Given the description of an element on the screen output the (x, y) to click on. 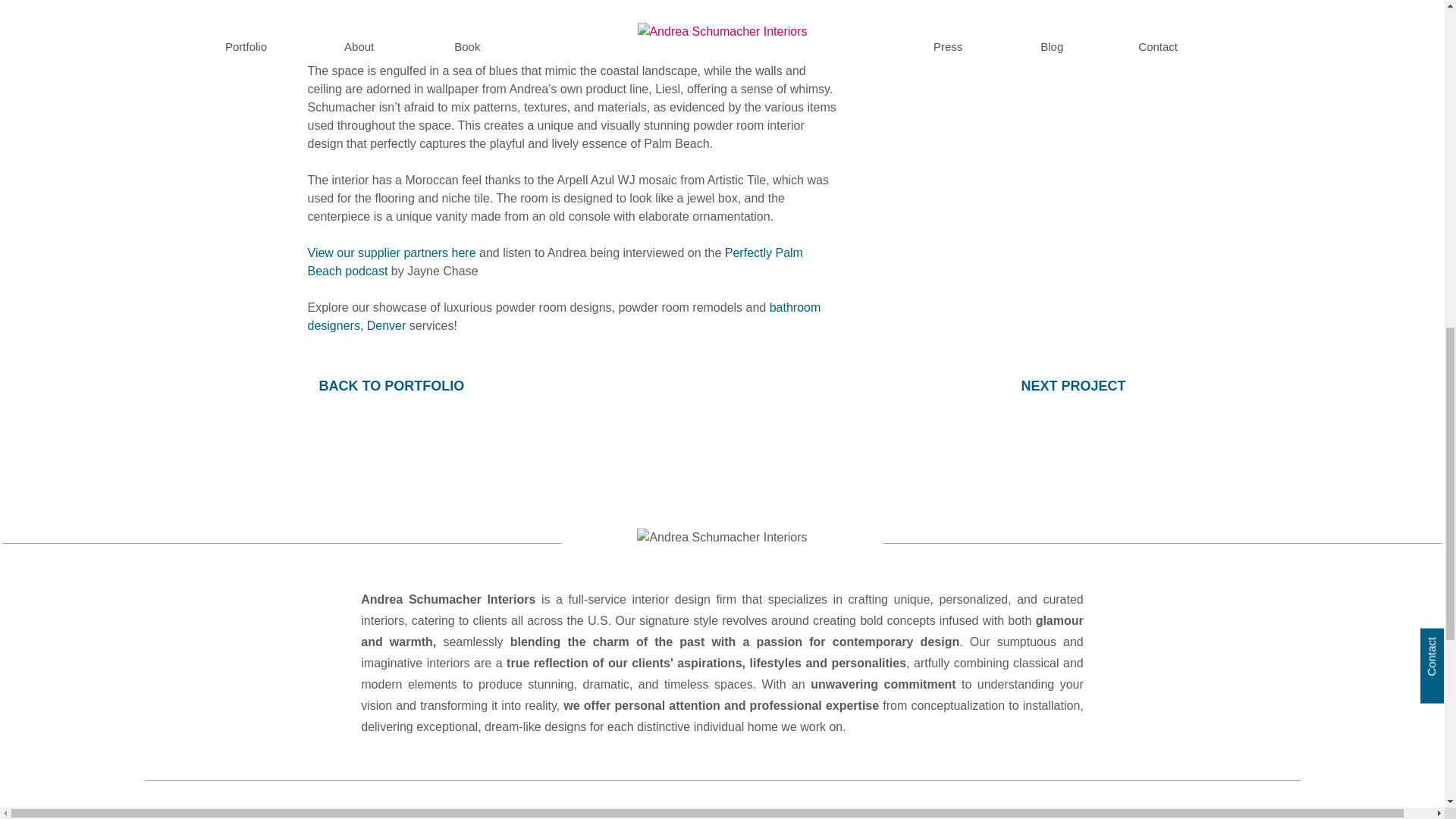
BACK TO PORTFOLIO (385, 385)
View our supplier partners here (391, 253)
bathroom designers, Denver (564, 316)
NEXT PROJECT (1078, 385)
Perfectly Palm Beach podcast (555, 262)
Andrea Schumacher Interiors (721, 541)
